Given the description of an element on the screen output the (x, y) to click on. 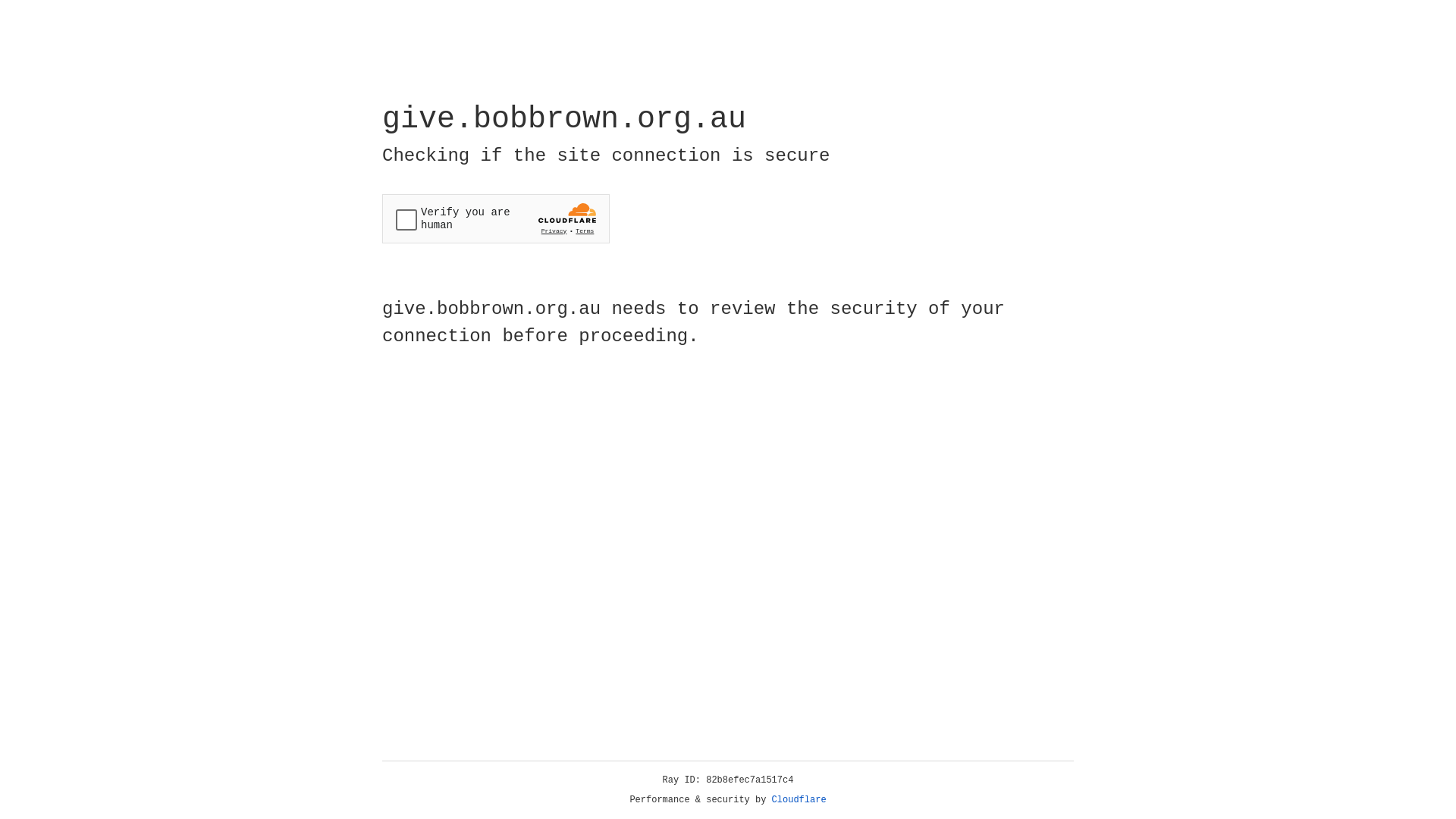
Widget containing a Cloudflare security challenge Element type: hover (495, 218)
Cloudflare Element type: text (798, 799)
